Given the description of an element on the screen output the (x, y) to click on. 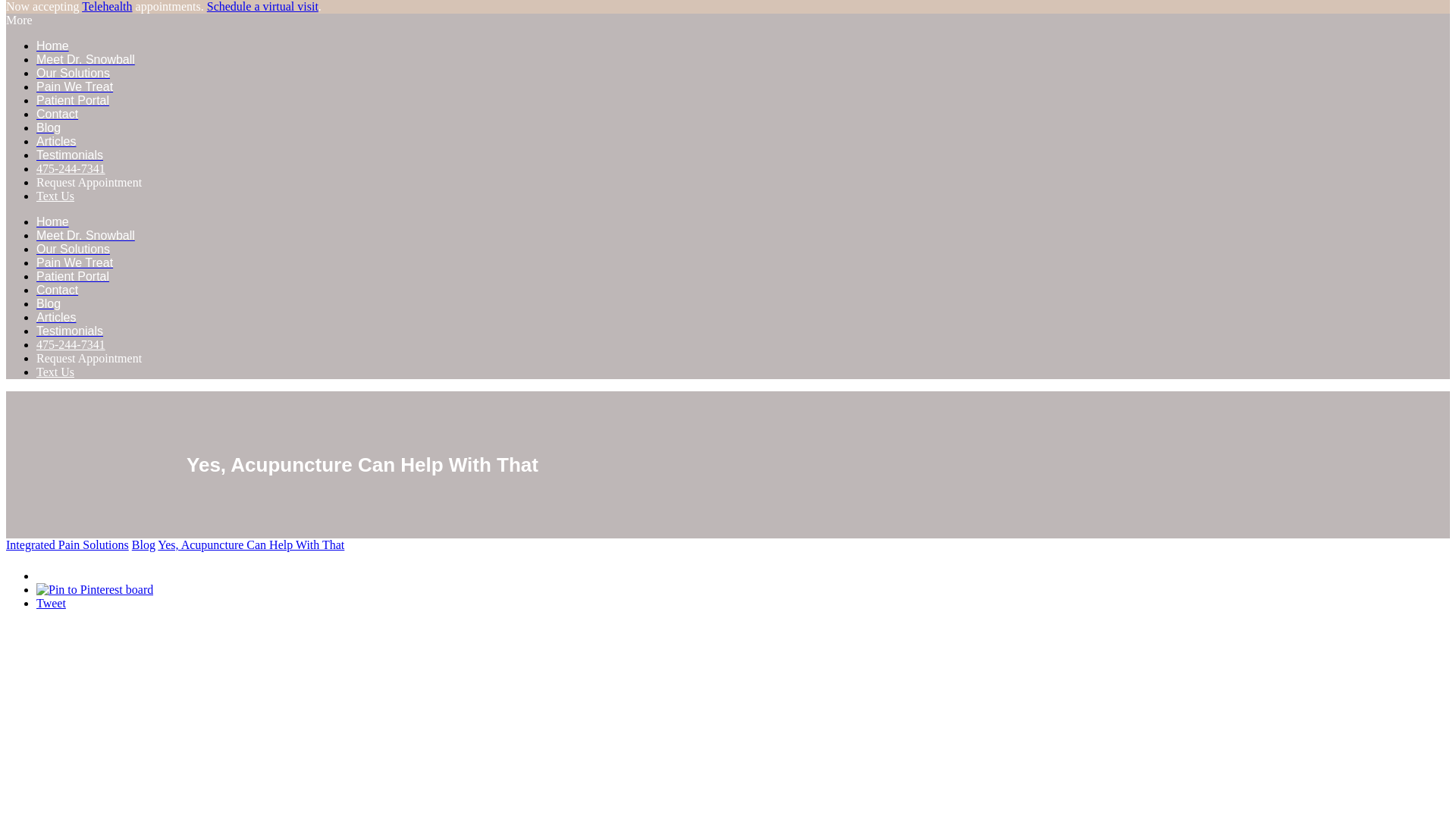
Meet Dr. Snowball (85, 235)
475-244-7341 (70, 168)
Schedule a virtual visit (262, 6)
Request Appointment (88, 182)
Contact (57, 113)
Home (52, 45)
Pain We Treat (74, 86)
Our Solutions (73, 248)
Telehealth (106, 6)
Articles (55, 141)
